Given the description of an element on the screen output the (x, y) to click on. 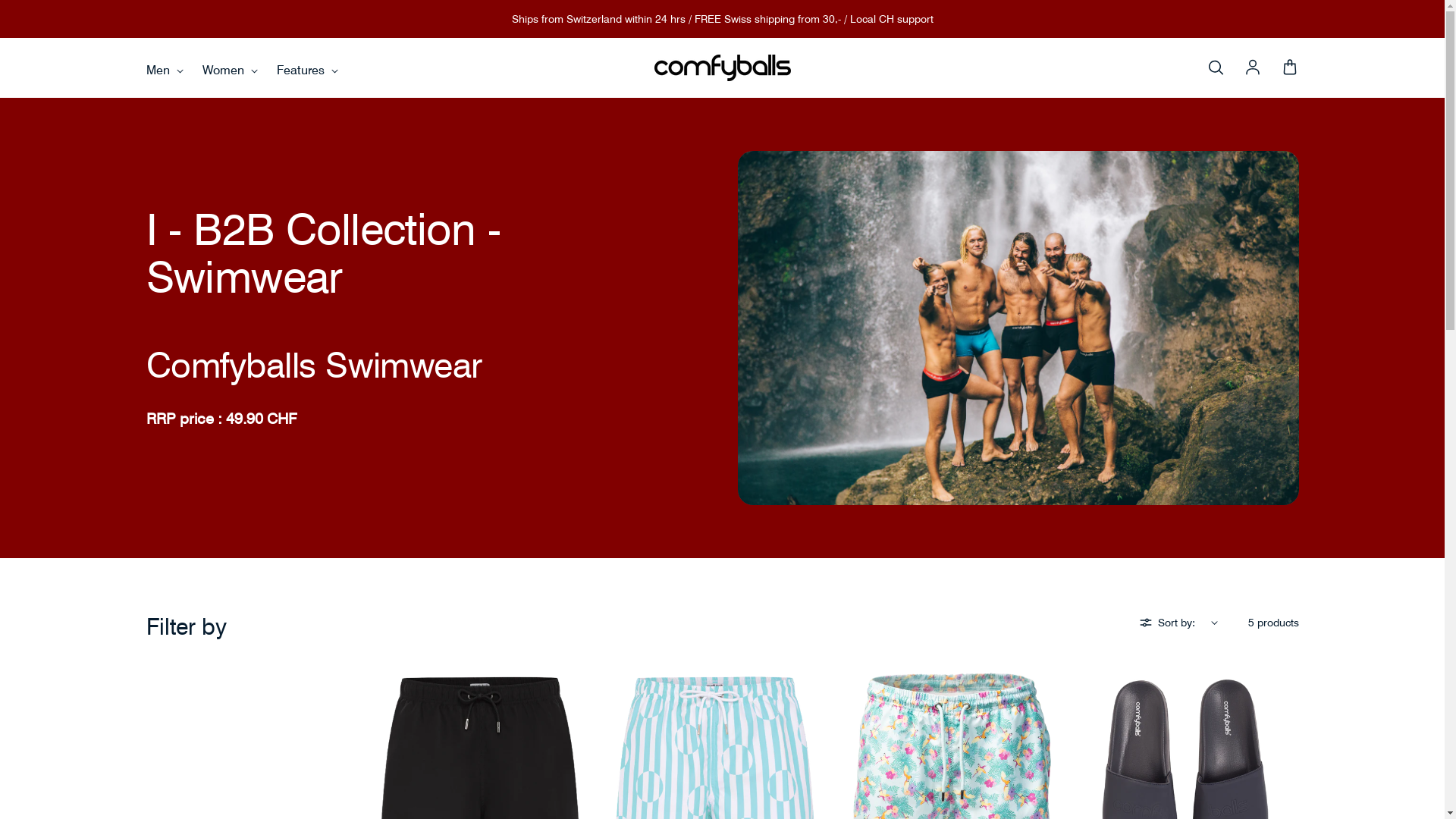
Women Element type: text (229, 69)
Skip to content Element type: text (0, 0)
Men Element type: text (163, 69)
Features Element type: text (306, 69)
Log in Element type: text (1252, 68)
